Given the description of an element on the screen output the (x, y) to click on. 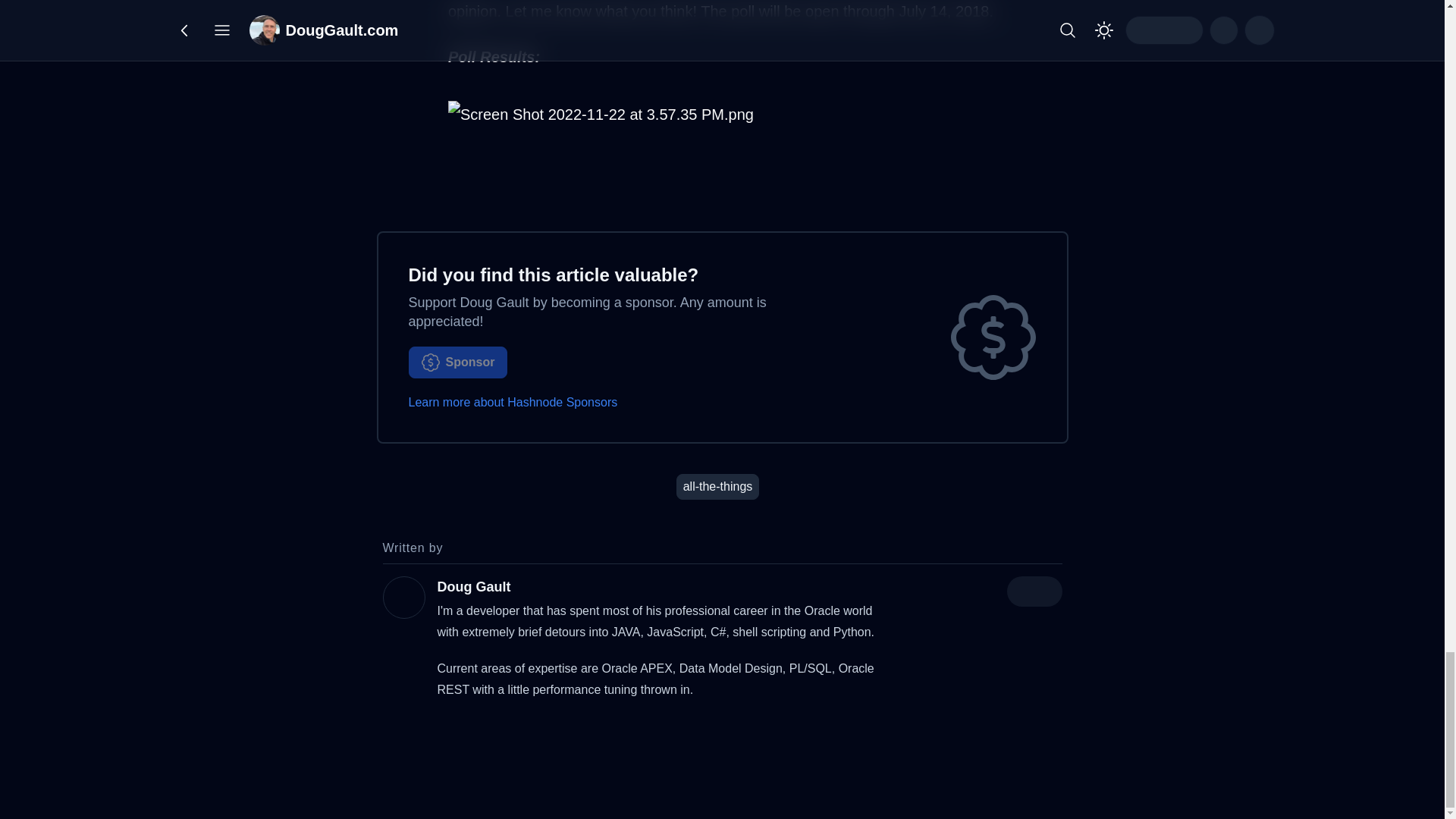
Learn more about Hashnode Sponsors (512, 401)
all-the-things (718, 485)
Sponsor (456, 361)
Doug Gault (473, 586)
